Given the description of an element on the screen output the (x, y) to click on. 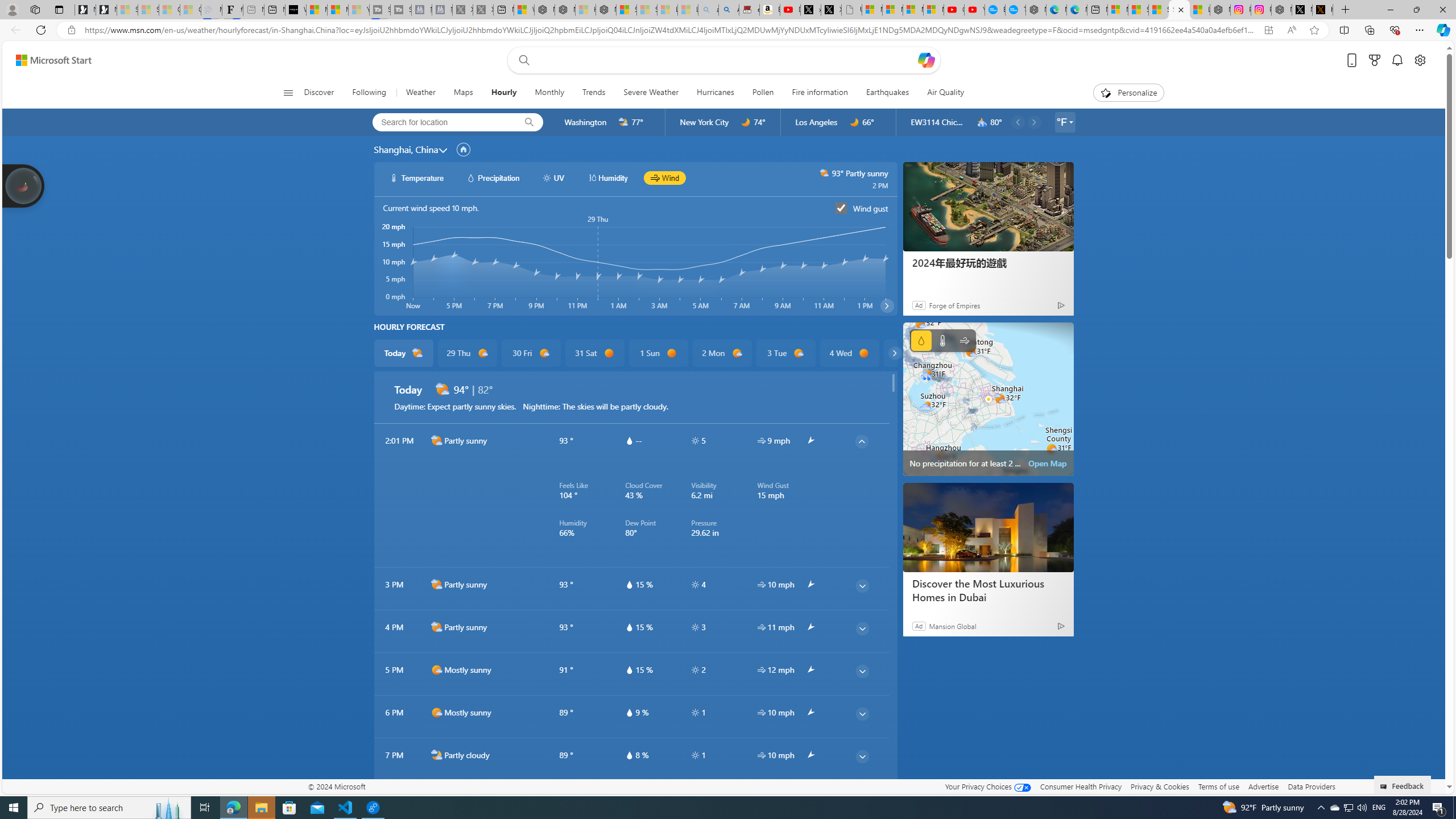
Fire information (819, 92)
Nordace - Nordace Siena Is Not An Ordinary Backpack (606, 9)
locationName/setHomeLocation (462, 149)
Air Quality (940, 92)
31 Sat d0000 (594, 352)
Precipitation (920, 340)
Notifications (1397, 60)
Wind gust (841, 207)
